Given the description of an element on the screen output the (x, y) to click on. 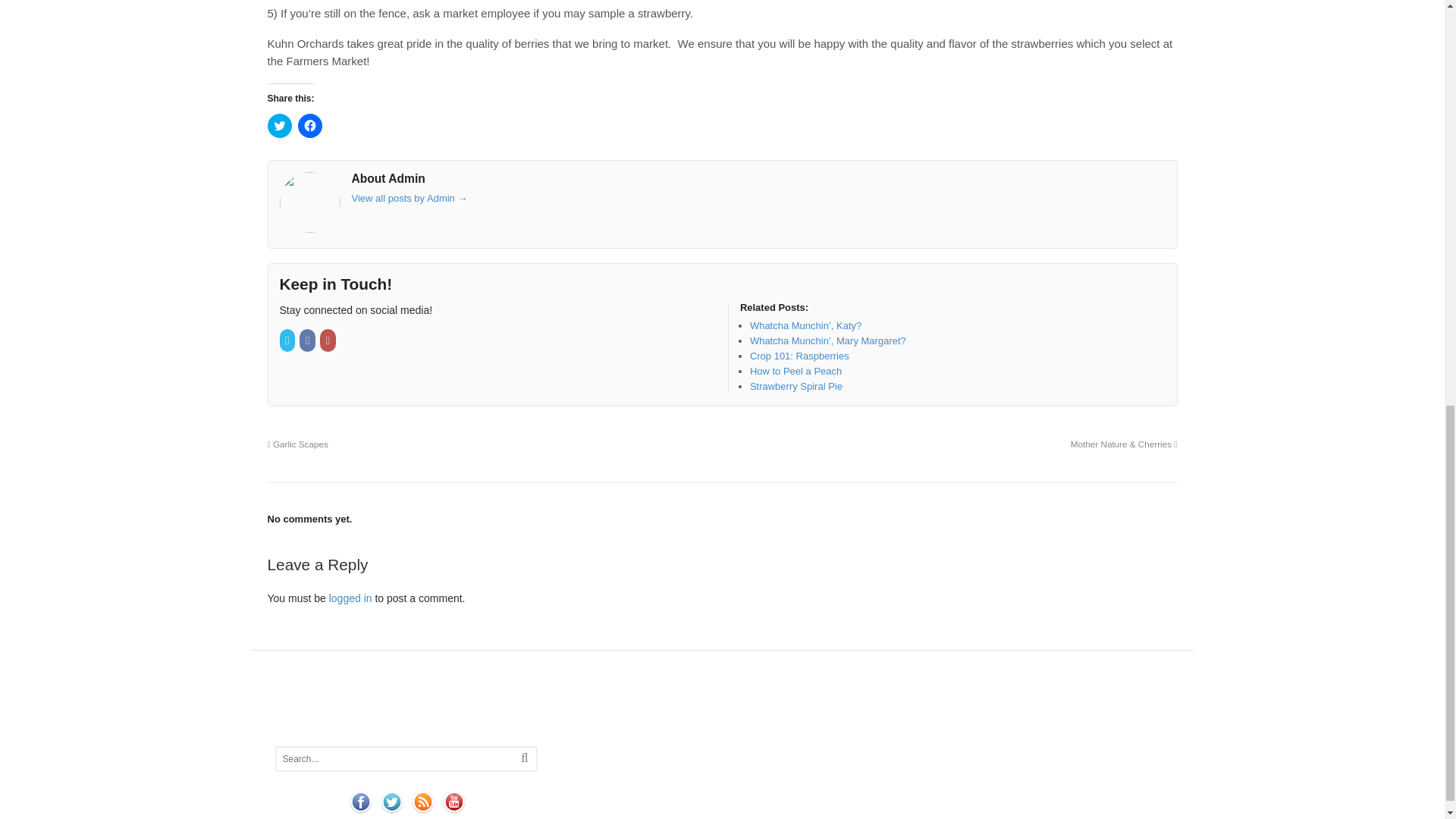
Twitter (288, 340)
Click to share on Twitter (278, 125)
Facebook (308, 340)
YouTube (328, 340)
Search... (392, 758)
Click to share on Facebook (309, 125)
